Given the description of an element on the screen output the (x, y) to click on. 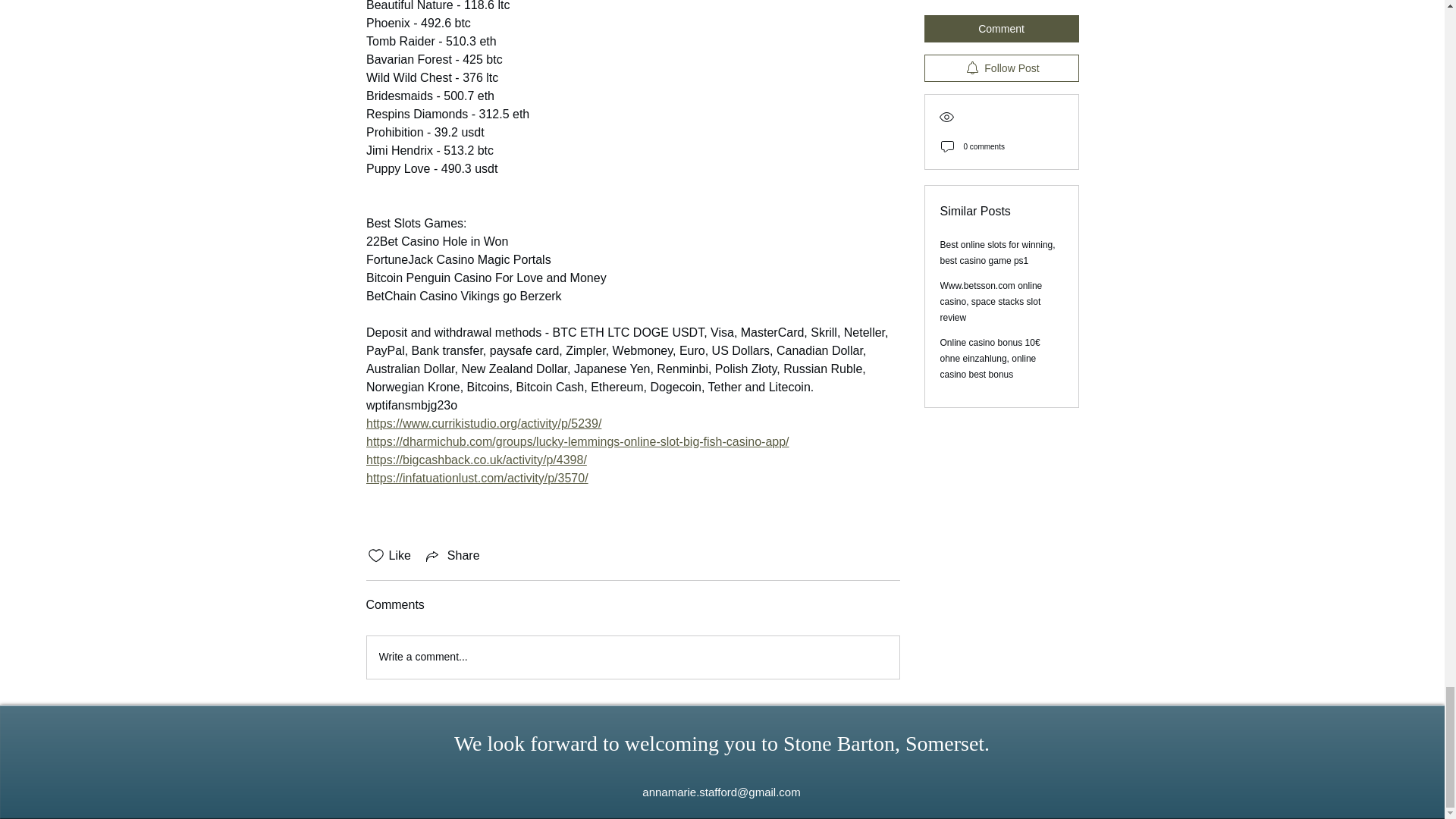
We look forward to welcoming you to Stone Barton, Somerset. (722, 743)
Share (451, 556)
Write a comment... (632, 657)
